Given the description of an element on the screen output the (x, y) to click on. 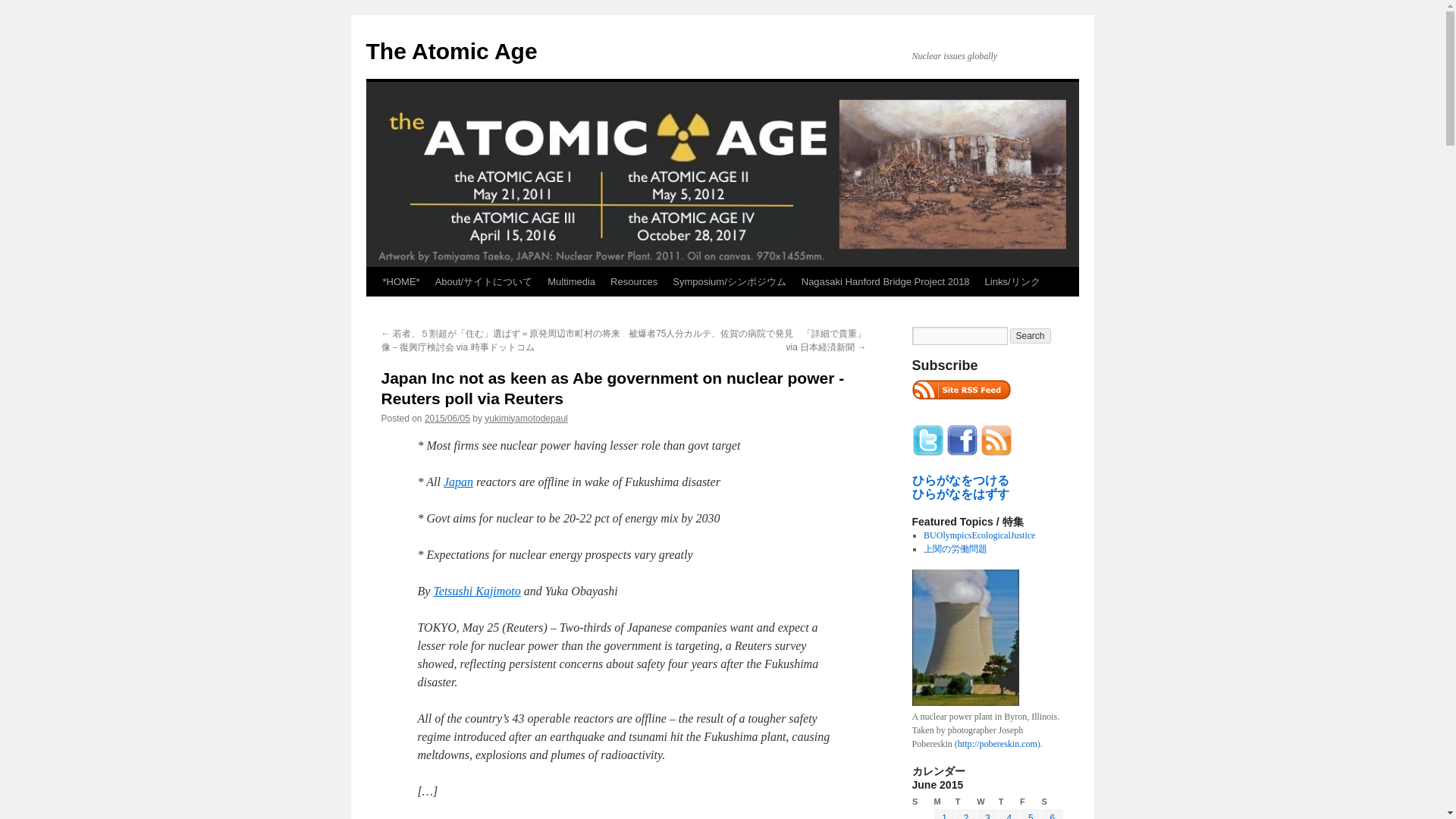
Wednesday (986, 801)
Tuesday (965, 801)
Japan (458, 481)
Multimedia (571, 281)
Nagasaki Hanford Bridge Project 2018 (884, 281)
9:02 am (447, 418)
Thursday (1009, 801)
Monday (944, 801)
TokyoOlympicsEcologicalJustice (979, 534)
View all posts by yukimiyamotodepaul (525, 418)
The Atomic Age (451, 50)
Saturday (1052, 801)
yukimiyamotodepaul (525, 418)
 latest posts (960, 389)
Search (1030, 335)
